Given the description of an element on the screen output the (x, y) to click on. 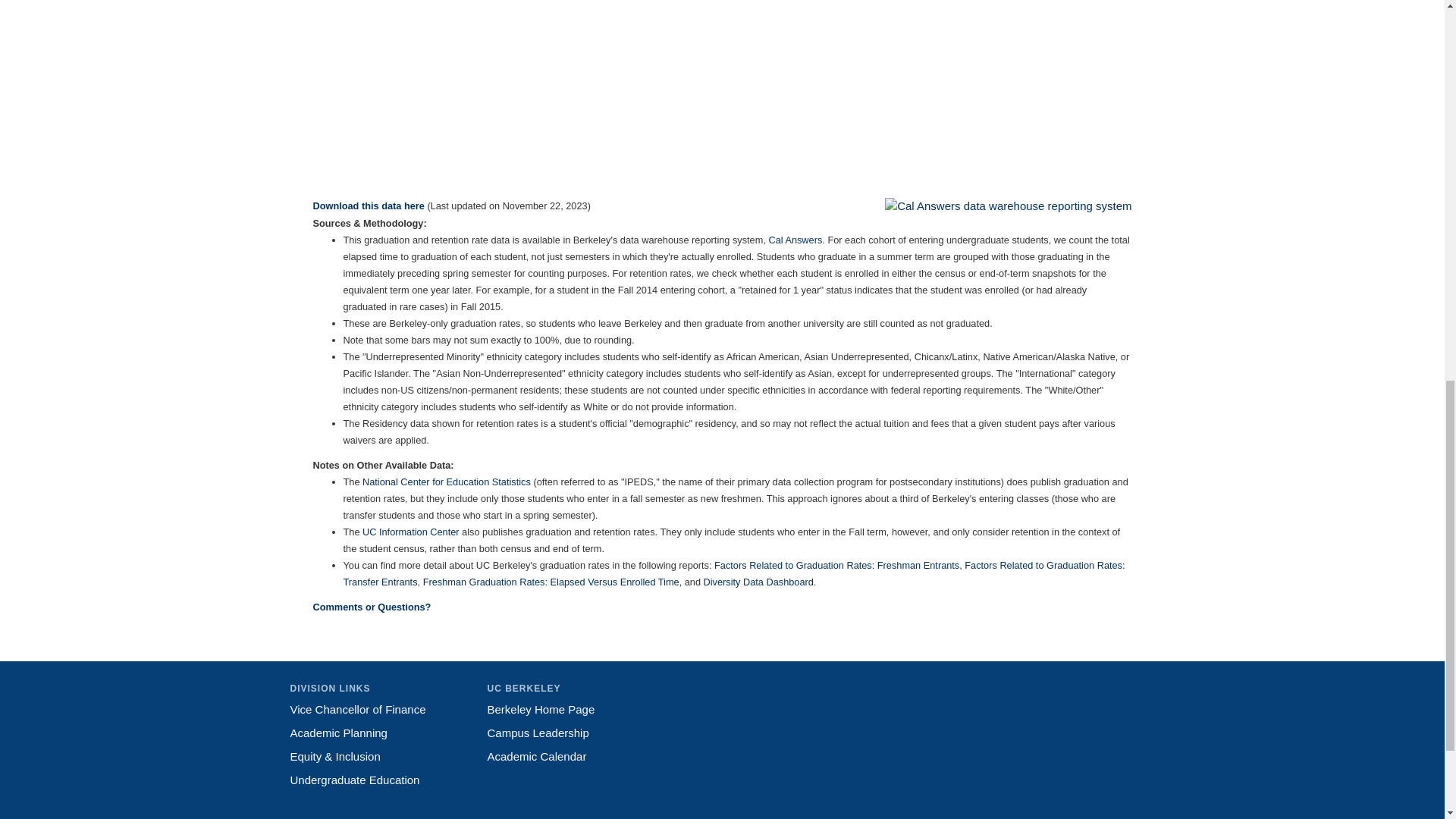
Academic Calendar (536, 756)
Diversity Data Dashboard (758, 582)
Berkeley Home Page (540, 708)
Download this data here (368, 205)
Undergraduate Education (354, 779)
National Center for Education Statistics (446, 481)
Campus Leadership (537, 732)
Cal Answers (795, 239)
Factors Related to Graduation Rates: Freshman Entrants (836, 564)
Freshman Graduation Rates: Elapsed Versus Enrolled Time (551, 582)
